Given the description of an element on the screen output the (x, y) to click on. 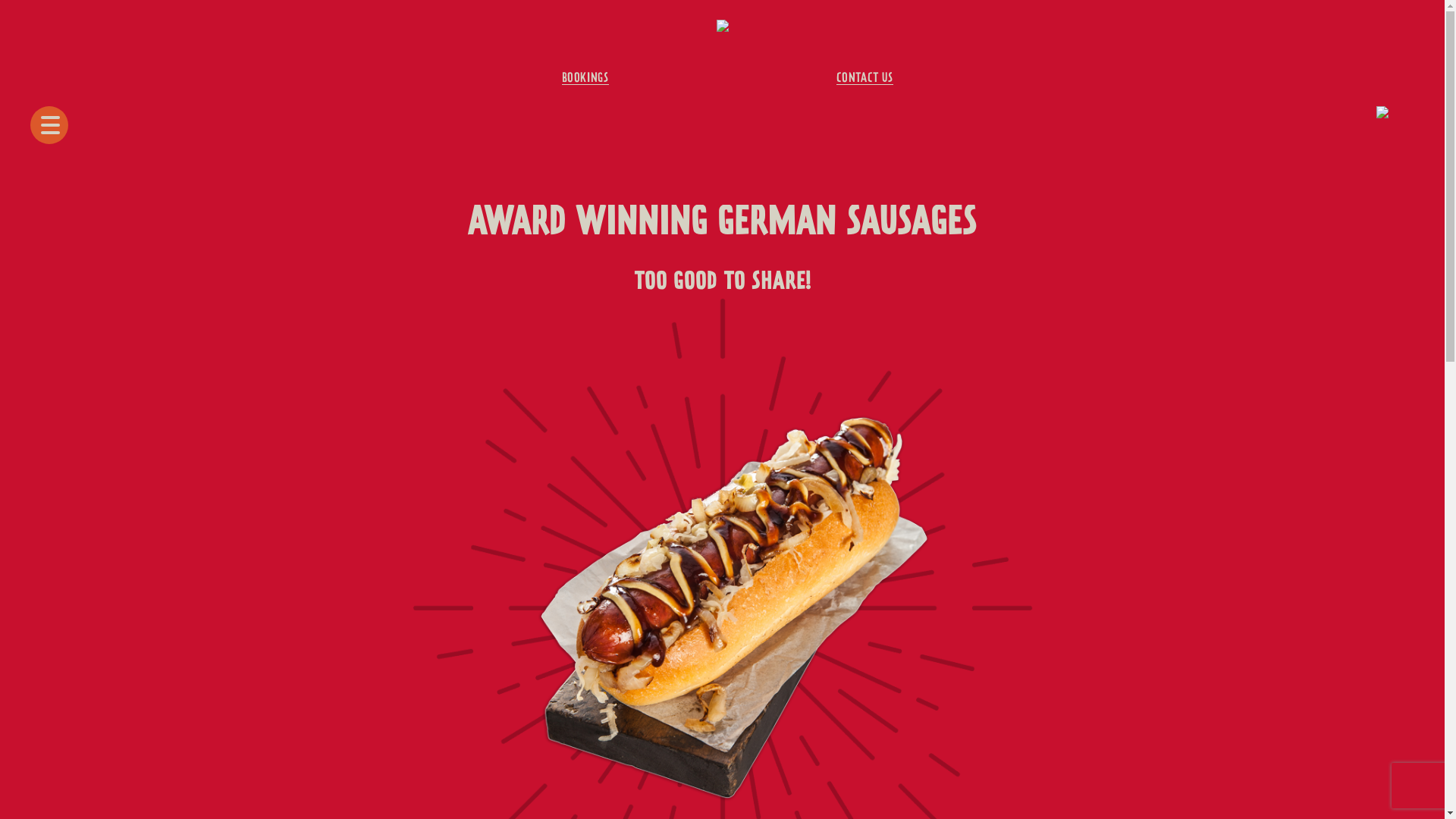
CONTACT US Element type: text (863, 78)
BOOKINGS Element type: text (584, 78)
